Given the description of an element on the screen output the (x, y) to click on. 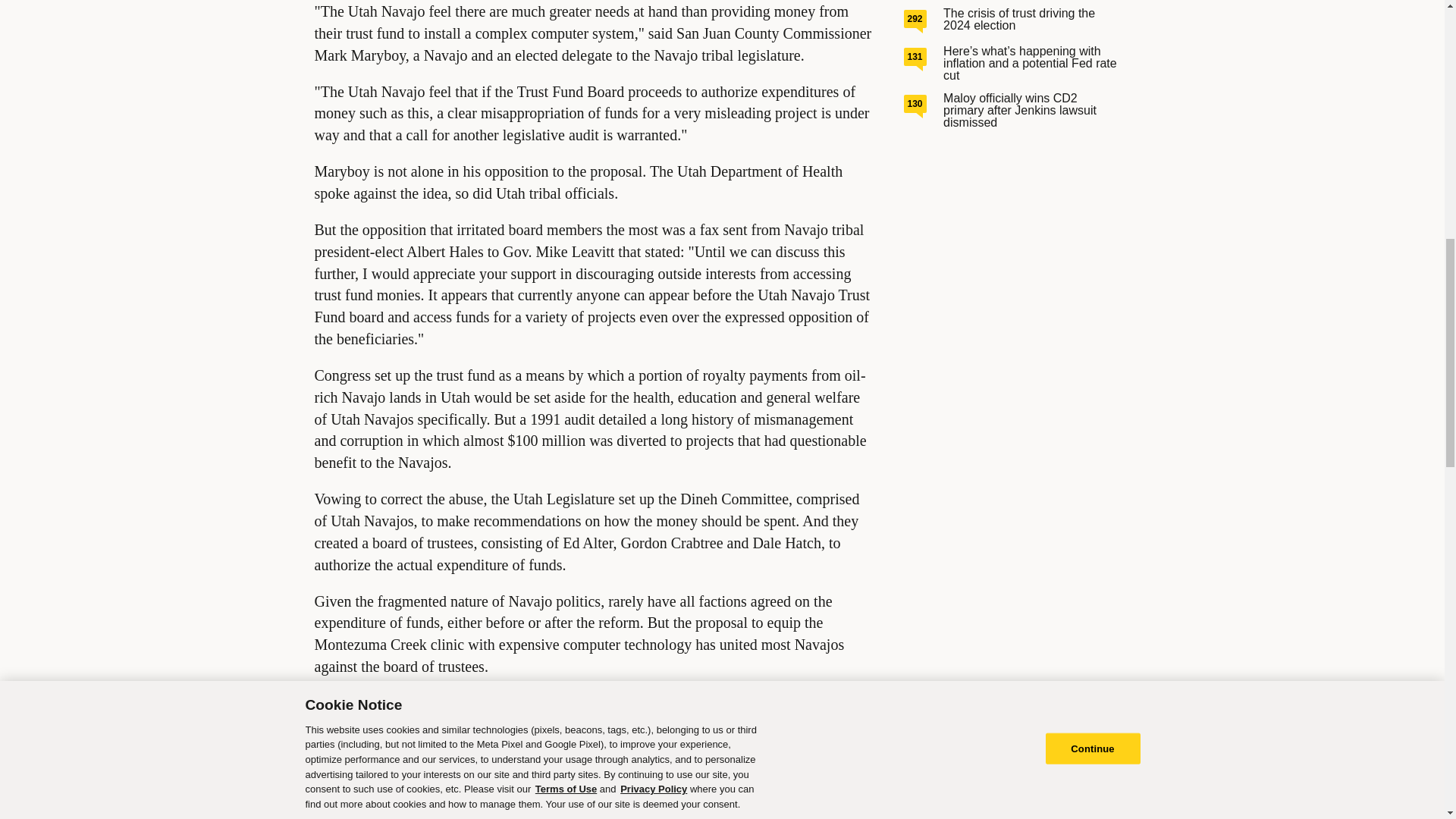
130 (915, 104)
292 (915, 18)
131 (915, 56)
The crisis of trust driving the 2024 election (1018, 18)
